Given the description of an element on the screen output the (x, y) to click on. 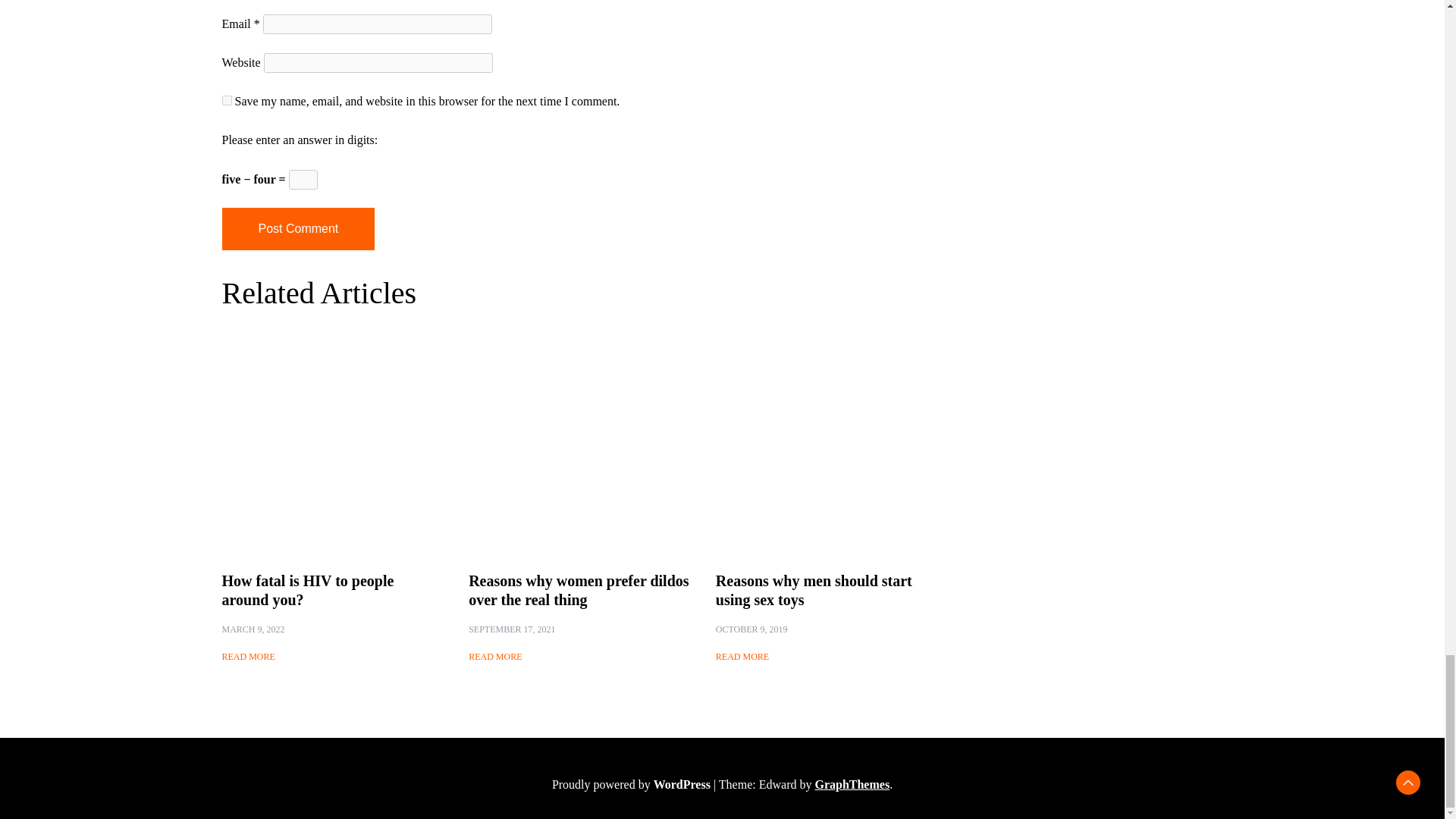
Reasons why men should start using sex toys (814, 590)
Post Comment (297, 229)
yes (226, 100)
OCTOBER 9, 2019 (751, 629)
MARCH 9, 2022 (252, 629)
How fatal is HIV to people around you? (307, 590)
READ MORE (742, 656)
READ MORE (248, 656)
Reasons why women prefer dildos over the real thing (578, 590)
SEPTEMBER 17, 2021 (511, 629)
Post Comment (297, 229)
READ MORE (494, 656)
